Given the description of an element on the screen output the (x, y) to click on. 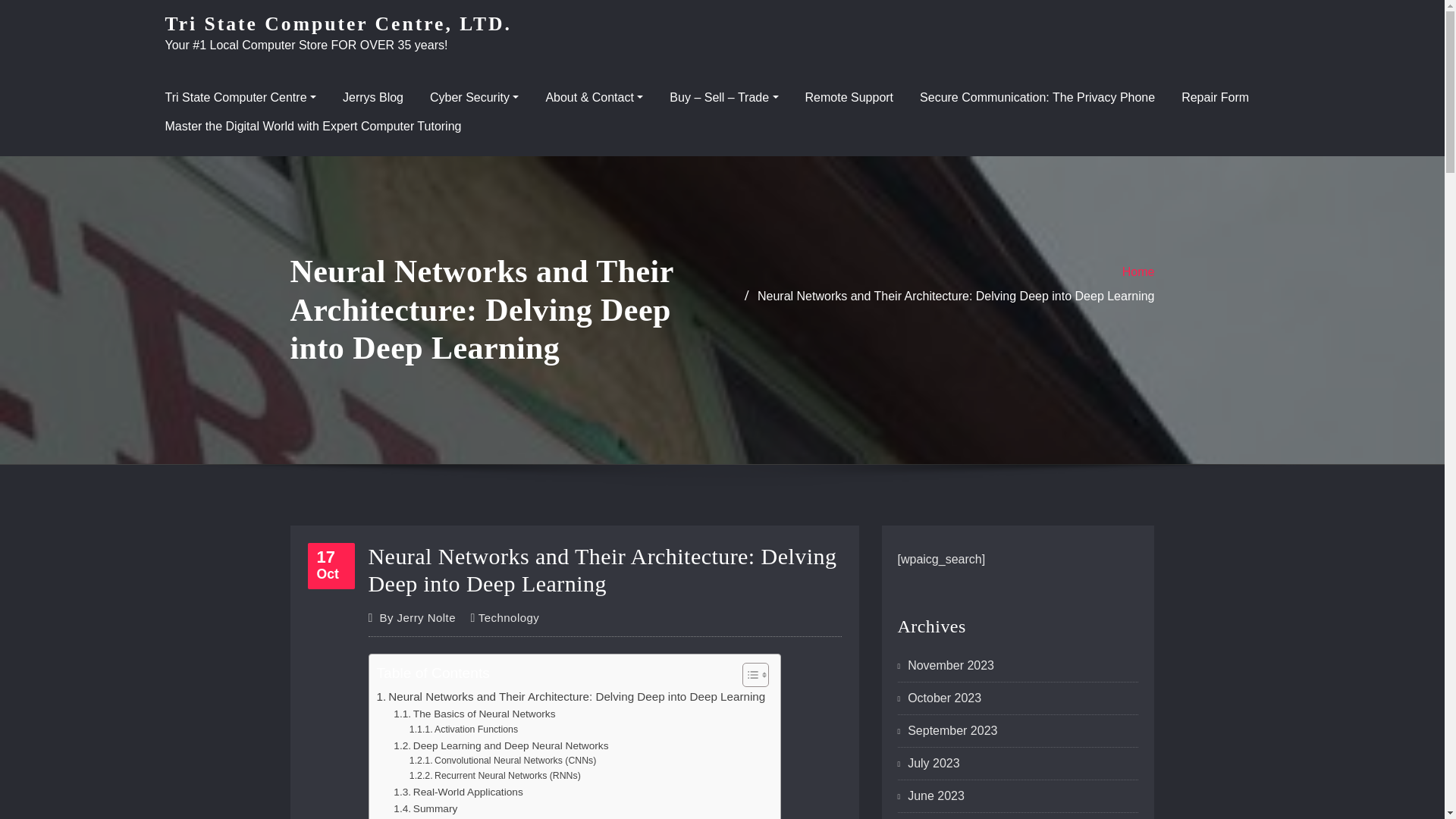
Activation Functions (463, 729)
Deep Learning and Deep Neural Networks (500, 745)
Secure Communication: The Privacy Phone (1037, 97)
Summary (425, 808)
Tri State Computer Centre (240, 97)
Real-World Applications (457, 791)
Cyber Security (473, 97)
Jerrys Blog (372, 97)
Master the Digital World with Expert Computer Tutoring (313, 126)
